Given the description of an element on the screen output the (x, y) to click on. 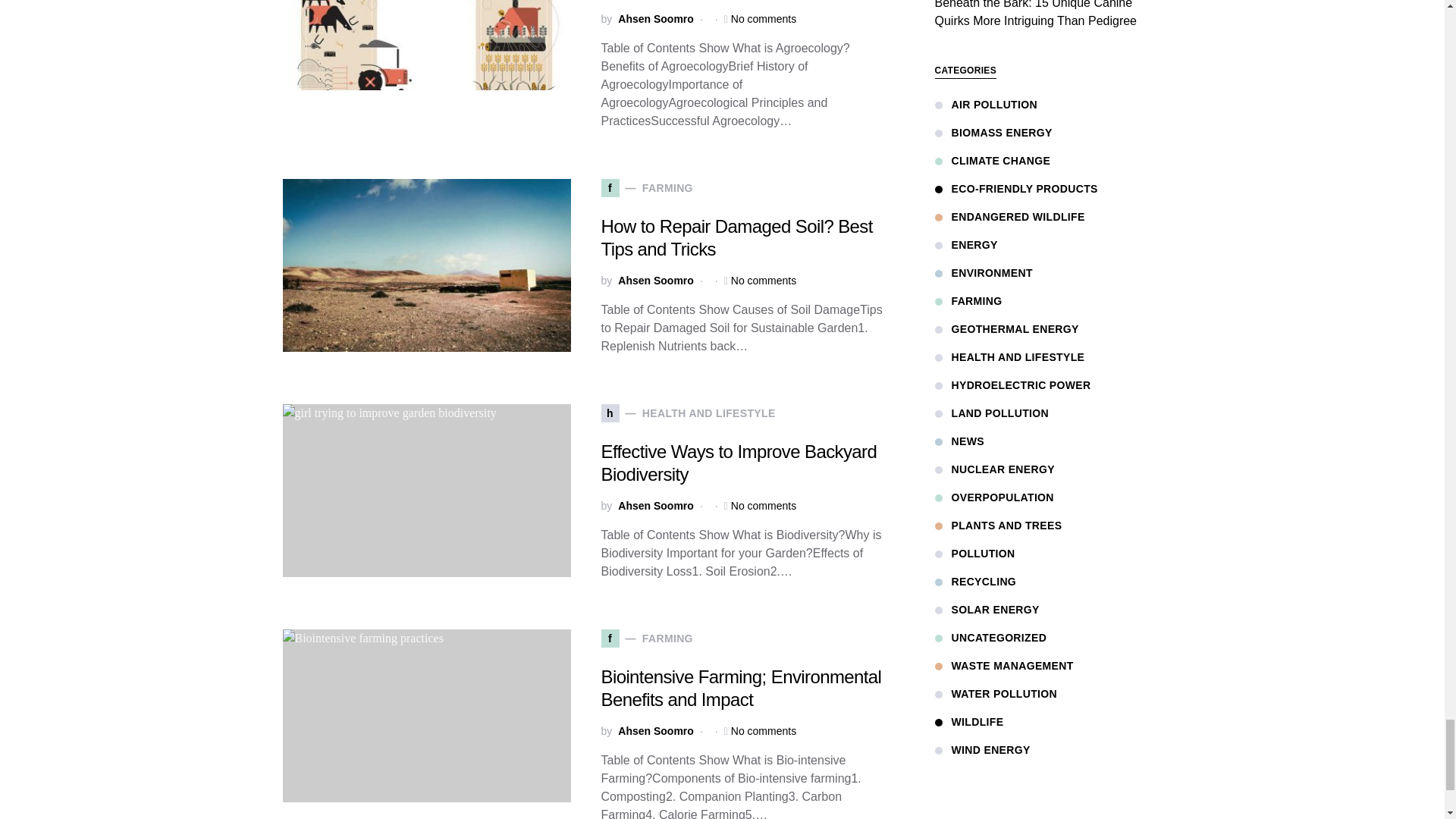
View all posts by Ahsen Soomro (655, 280)
View all posts by Ahsen Soomro (655, 19)
View all posts by Ahsen Soomro (655, 731)
View all posts by Ahsen Soomro (655, 505)
